Given the description of an element on the screen output the (x, y) to click on. 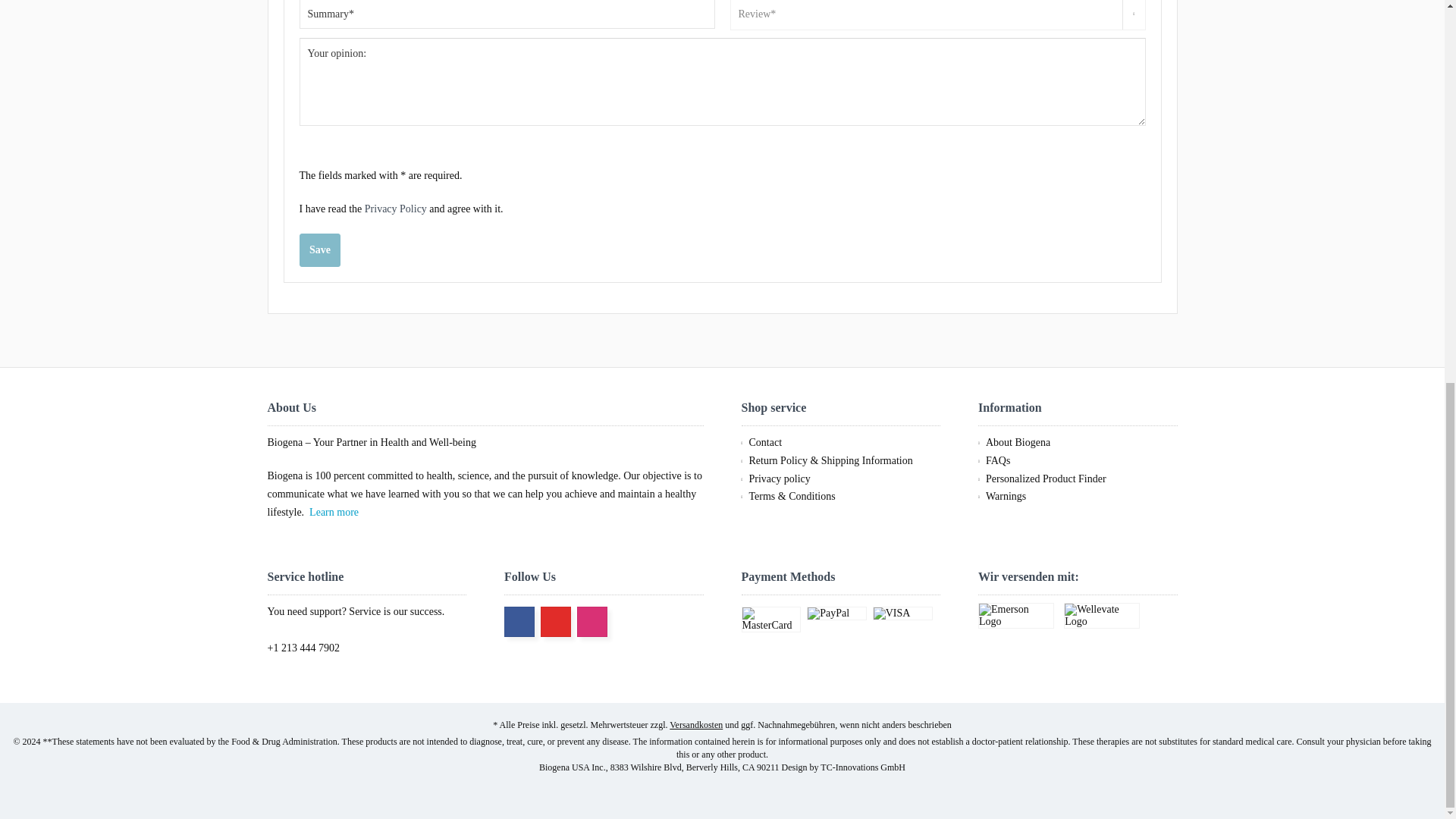
Save (318, 249)
